Given the description of an element on the screen output the (x, y) to click on. 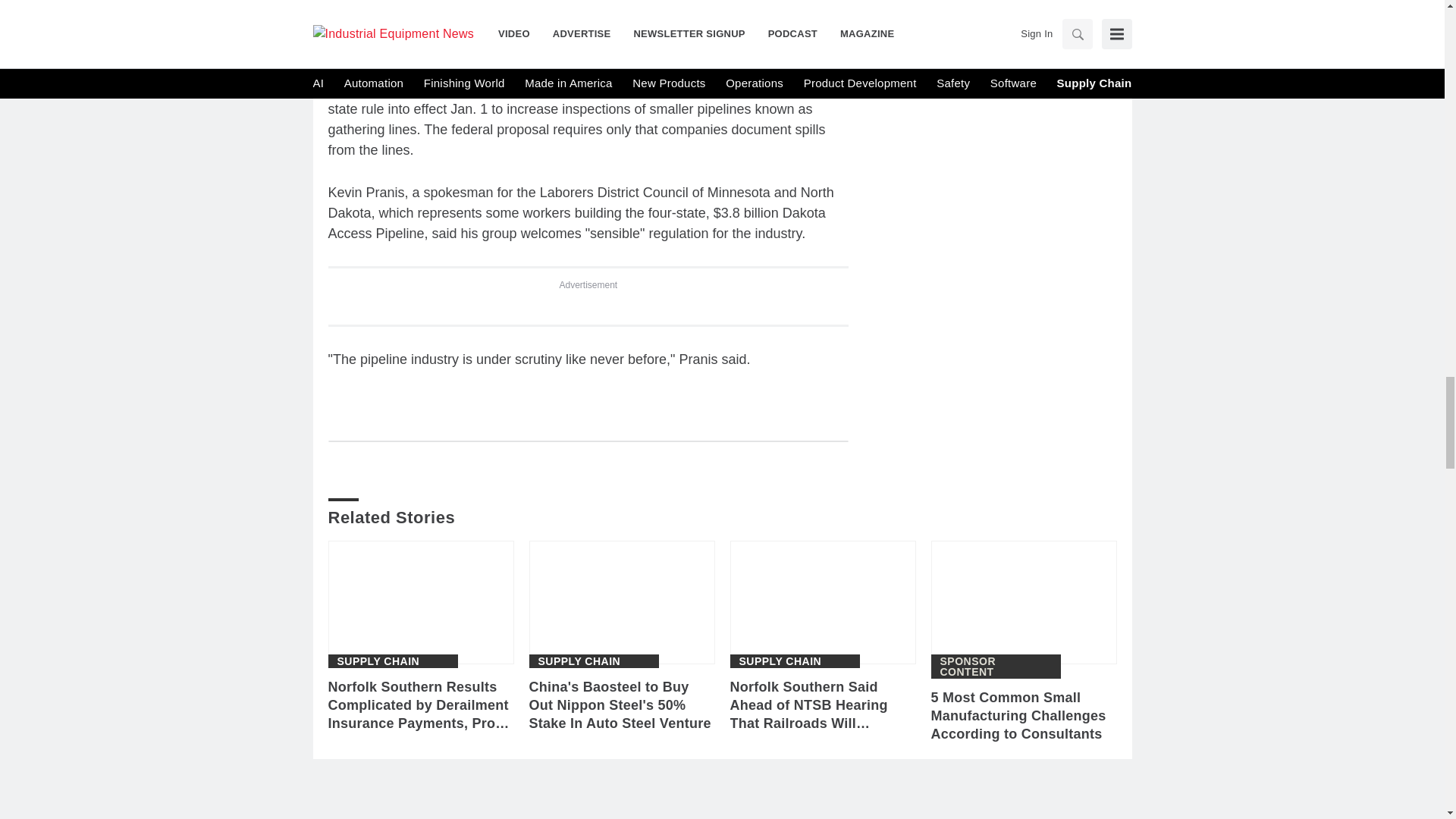
Supply Chain (377, 661)
Supply Chain (579, 661)
Supply Chain (779, 661)
Sponsor Content (996, 666)
